Given the description of an element on the screen output the (x, y) to click on. 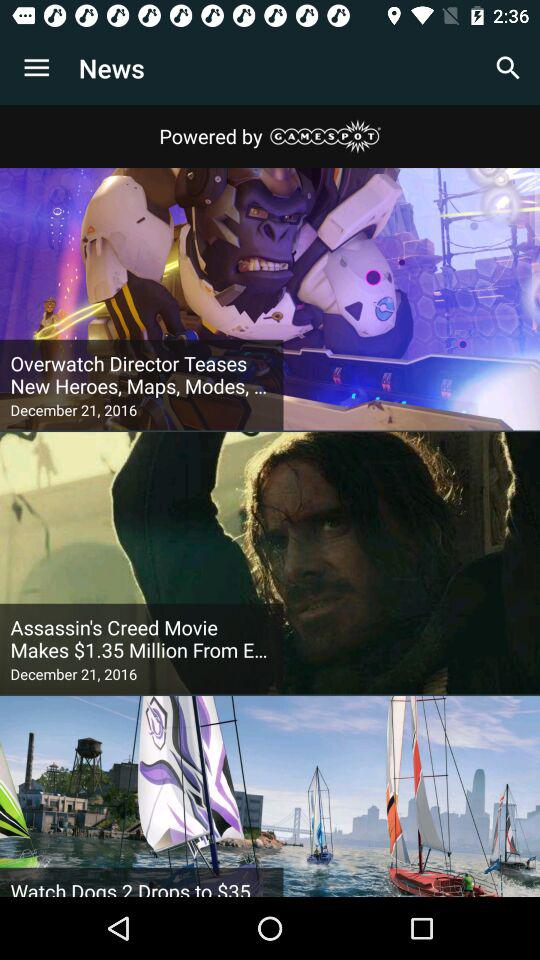
launch item at the top right corner (508, 67)
